Given the description of an element on the screen output the (x, y) to click on. 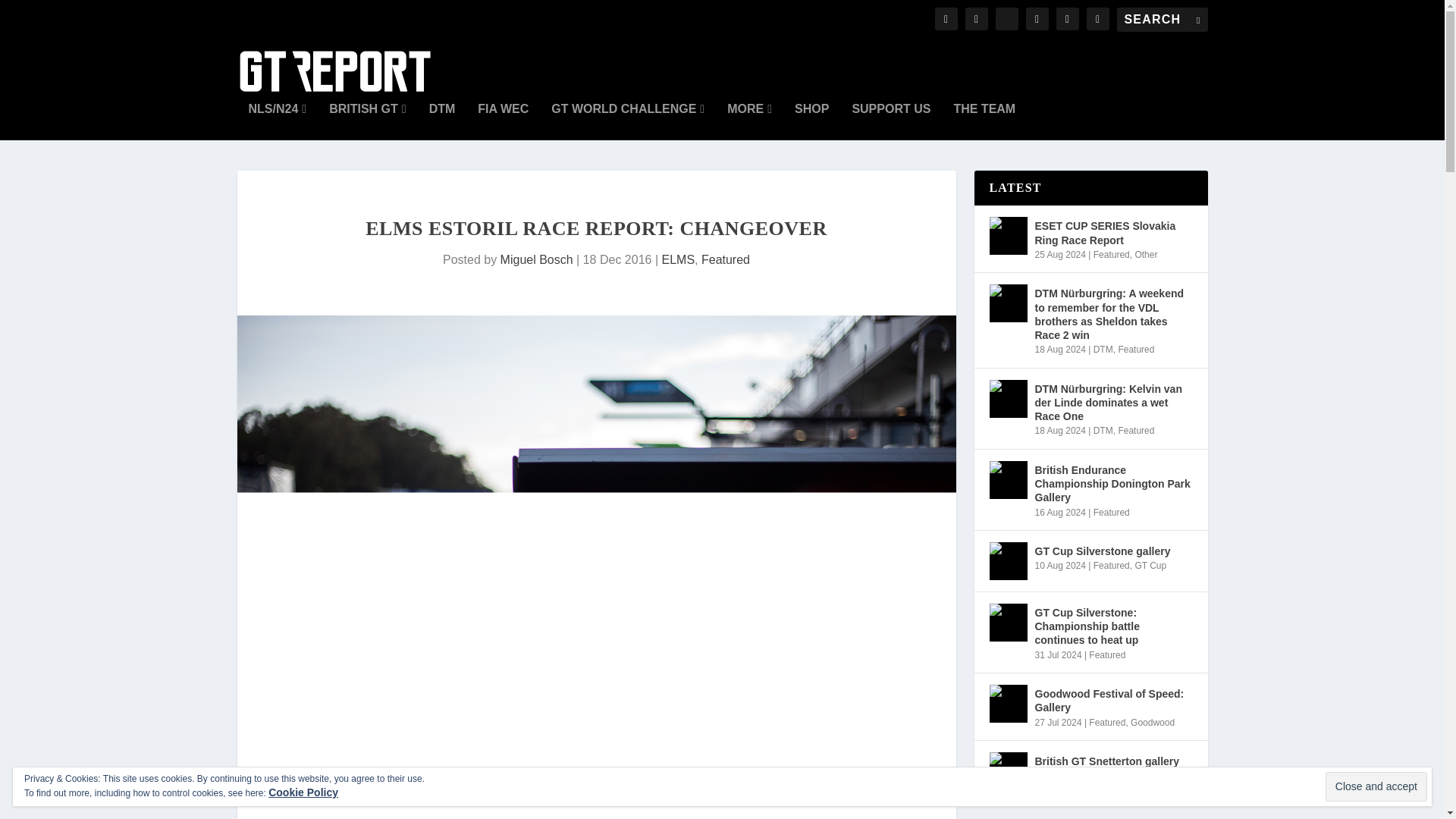
Close and accept (1375, 786)
BRITISH GT (367, 121)
GT WORLD CHALLENGE (627, 121)
MORE (748, 121)
SHOP (811, 121)
SUPPORT US (890, 121)
Posts by Miguel Bosch (536, 259)
Search for: (1161, 19)
FIA WEC (502, 121)
